Given the description of an element on the screen output the (x, y) to click on. 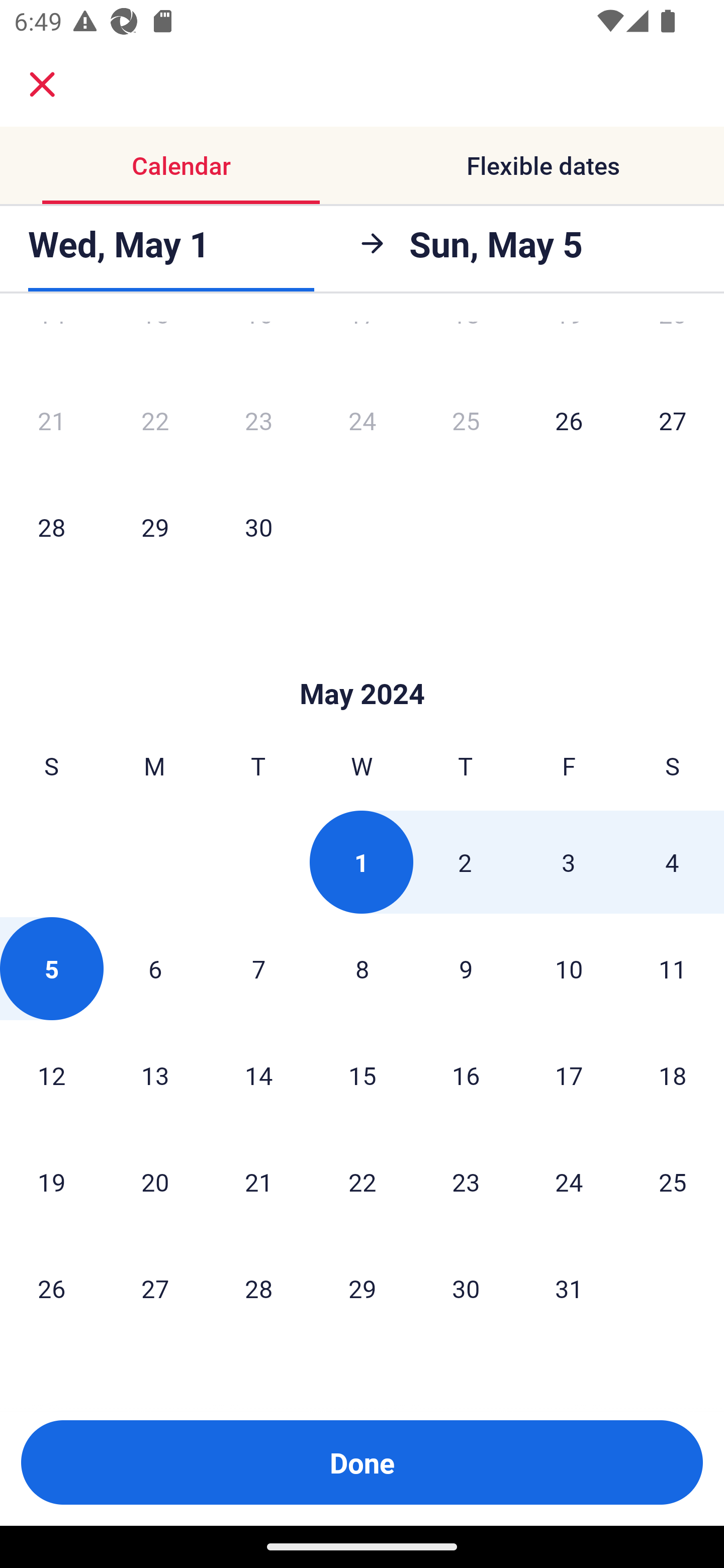
close. (42, 84)
Flexible dates (542, 164)
21 Sunday, April 21, 2024 (51, 419)
22 Monday, April 22, 2024 (155, 419)
23 Tuesday, April 23, 2024 (258, 419)
24 Wednesday, April 24, 2024 (362, 419)
25 Thursday, April 25, 2024 (465, 419)
26 Friday, April 26, 2024 (569, 419)
27 Saturday, April 27, 2024 (672, 419)
28 Sunday, April 28, 2024 (51, 526)
29 Monday, April 29, 2024 (155, 526)
30 Tuesday, April 30, 2024 (258, 526)
Skip to Done (362, 662)
6 Monday, May 6, 2024 (155, 968)
7 Tuesday, May 7, 2024 (258, 968)
8 Wednesday, May 8, 2024 (362, 968)
9 Thursday, May 9, 2024 (465, 968)
10 Friday, May 10, 2024 (569, 968)
11 Saturday, May 11, 2024 (672, 968)
12 Sunday, May 12, 2024 (51, 1075)
13 Monday, May 13, 2024 (155, 1075)
14 Tuesday, May 14, 2024 (258, 1075)
15 Wednesday, May 15, 2024 (362, 1075)
16 Thursday, May 16, 2024 (465, 1075)
17 Friday, May 17, 2024 (569, 1075)
18 Saturday, May 18, 2024 (672, 1075)
19 Sunday, May 19, 2024 (51, 1182)
20 Monday, May 20, 2024 (155, 1182)
21 Tuesday, May 21, 2024 (258, 1182)
22 Wednesday, May 22, 2024 (362, 1182)
23 Thursday, May 23, 2024 (465, 1182)
24 Friday, May 24, 2024 (569, 1182)
25 Saturday, May 25, 2024 (672, 1182)
26 Sunday, May 26, 2024 (51, 1288)
27 Monday, May 27, 2024 (155, 1288)
28 Tuesday, May 28, 2024 (258, 1288)
29 Wednesday, May 29, 2024 (362, 1288)
30 Thursday, May 30, 2024 (465, 1288)
31 Friday, May 31, 2024 (569, 1288)
Done (361, 1462)
